Given the description of an element on the screen output the (x, y) to click on. 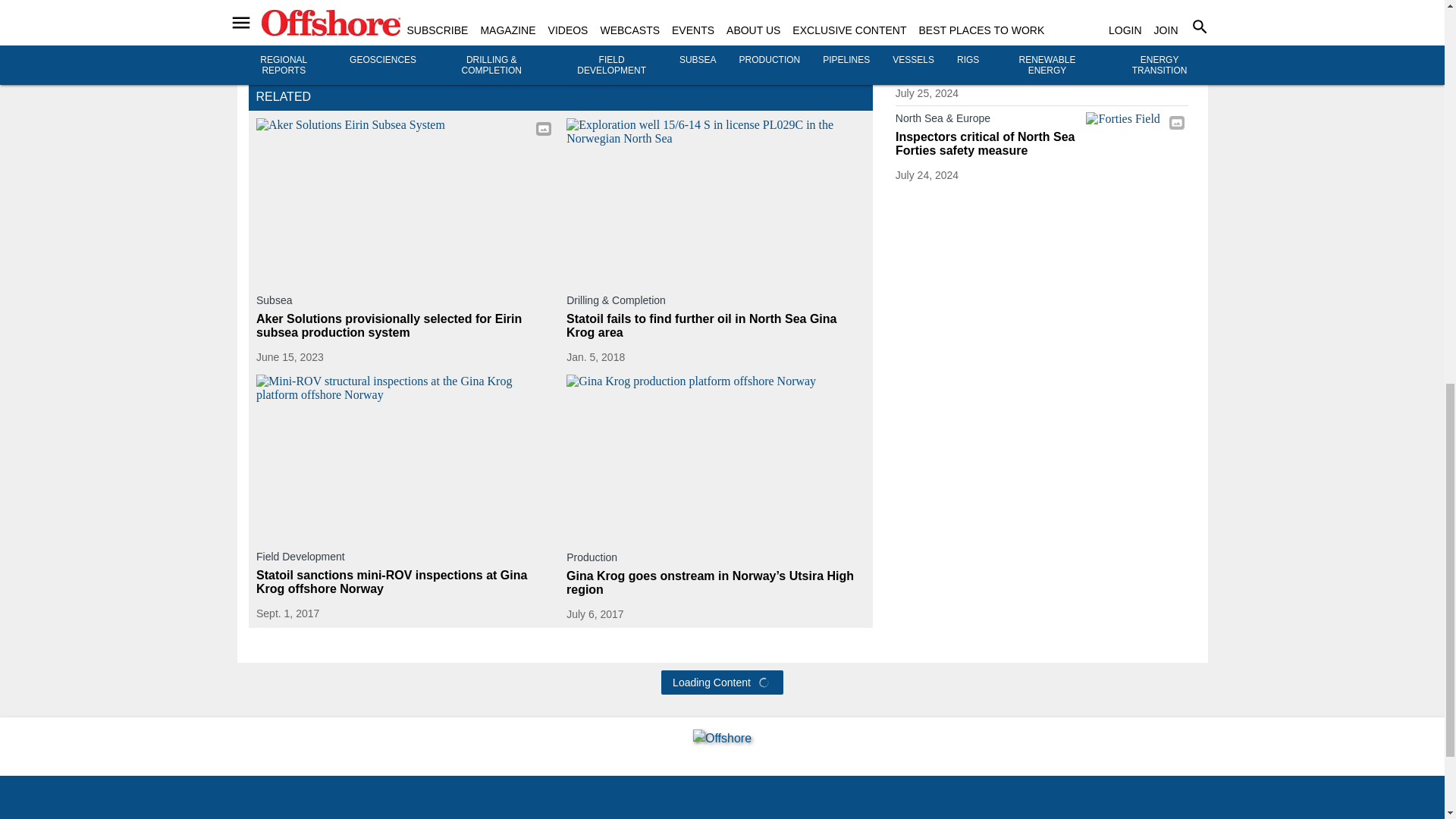
Gina Krog production platform offshore Norway (715, 458)
Aker Solutions Eirin Subsea System (405, 200)
Oseberg Field Centre (1137, 58)
Forties Field (1137, 140)
